Given the description of an element on the screen output the (x, y) to click on. 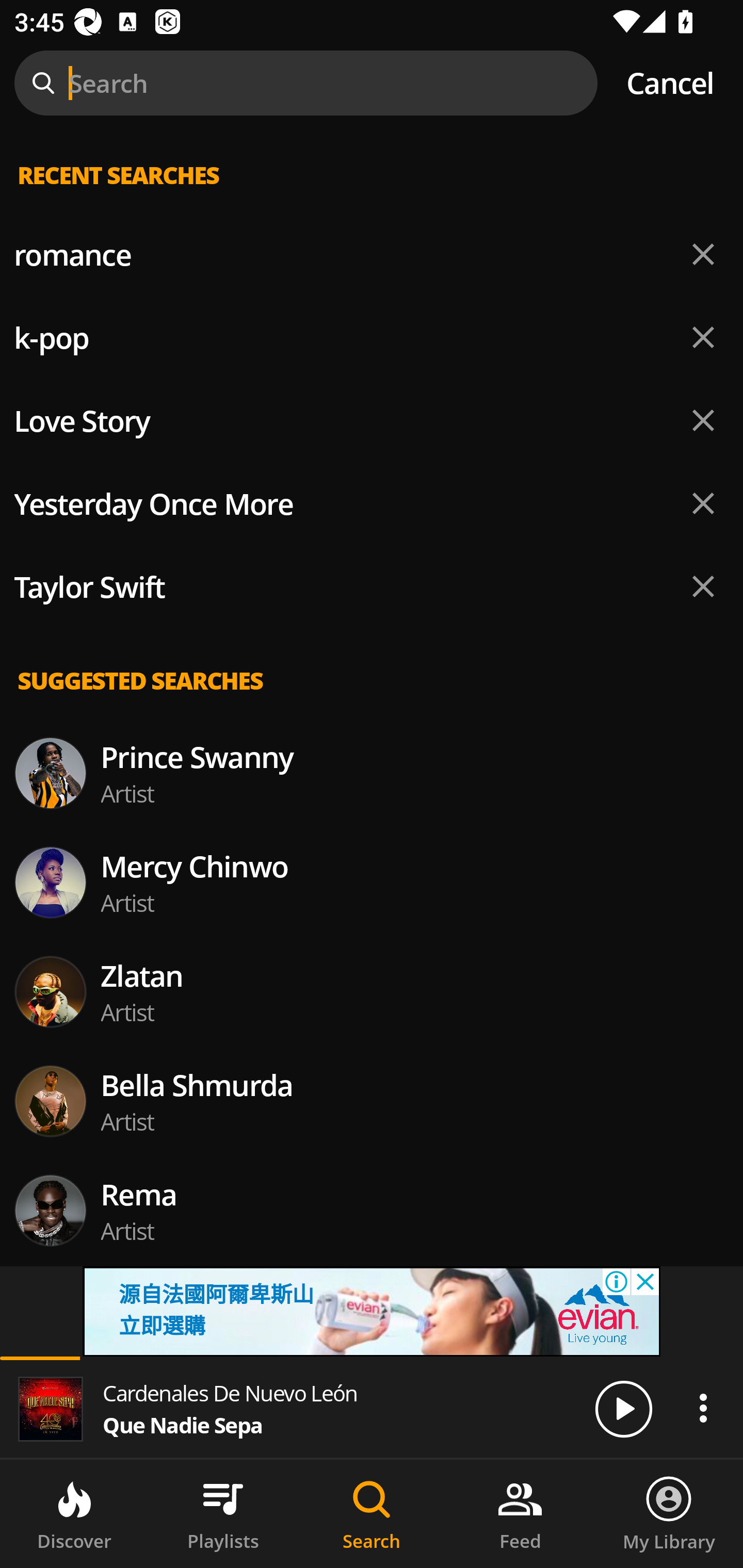
Search Cancel (371, 82)
Cancel (670, 82)
Artists, songs, albums and playlists… (371, 191)
romance Delete (371, 254)
Delete (703, 254)
k-pop Delete (371, 337)
Delete (703, 336)
Love Story Delete (371, 420)
Delete (703, 420)
Yesterday Once More Delete (371, 503)
Delete (703, 503)
Taylor Swift Delete (371, 586)
Delete (703, 586)
Prince Swanny Artist (371, 772)
Mercy Chinwo Artist (371, 882)
Zlatan Artist (371, 991)
Bella Shmurda Artist (371, 1100)
Rema Artist (371, 1210)
Actions (703, 1407)
Play/Pause (623, 1408)
Discover (74, 1513)
Playlists (222, 1513)
Search (371, 1513)
Feed (519, 1513)
My Library (668, 1513)
